Given the description of an element on the screen output the (x, y) to click on. 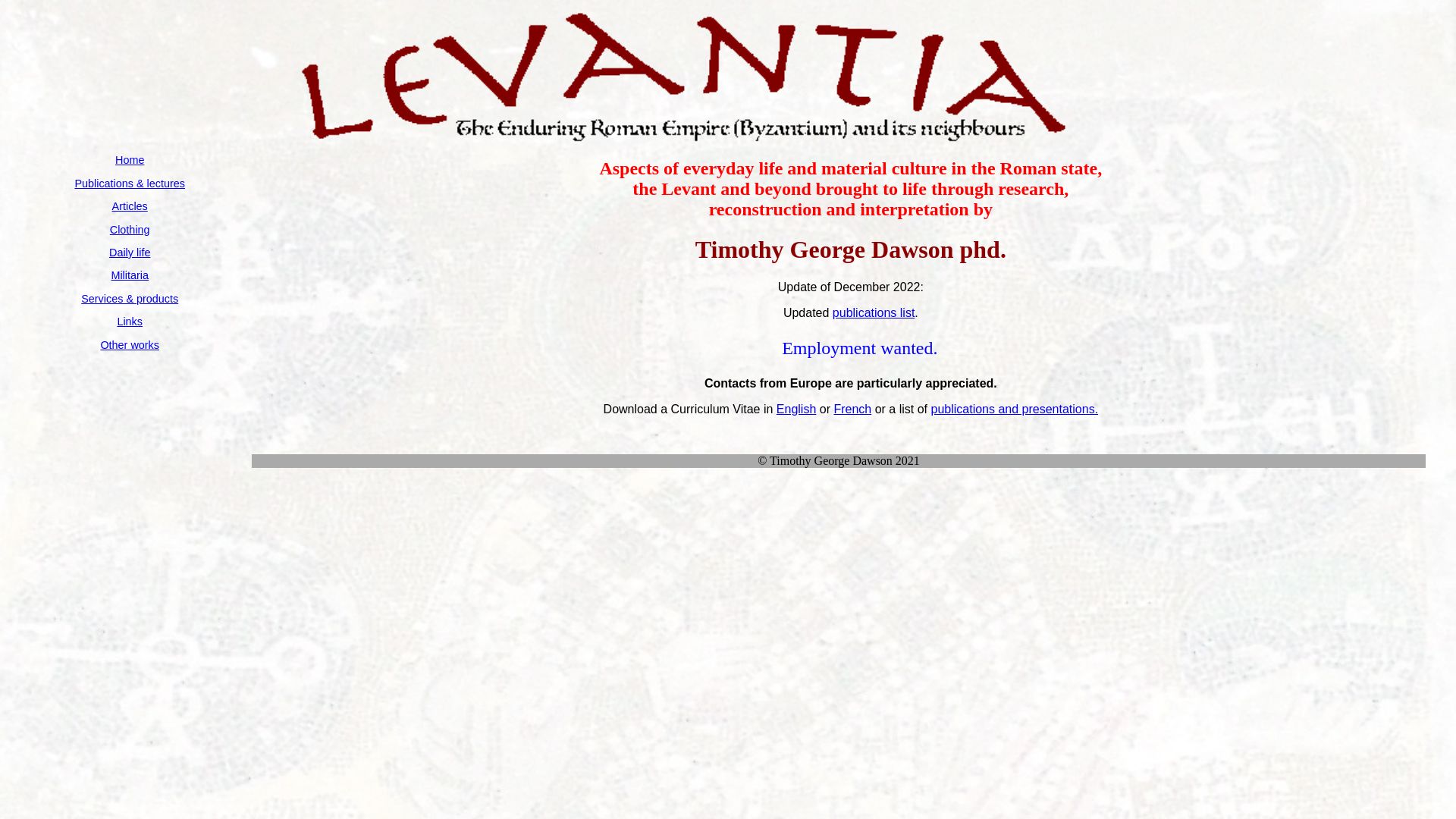
Militaria Element type: text (129, 275)
Articles Element type: text (129, 206)
Other works Element type: text (129, 344)
publications list Element type: text (873, 312)
French Element type: text (852, 408)
Services & products Element type: text (129, 298)
Publications & lectures Element type: text (129, 183)
Daily life Element type: text (129, 252)
Home Element type: text (129, 159)
Clothing Element type: text (129, 229)
Links Element type: text (129, 321)
publications and presentations. Element type: text (1014, 408)
English Element type: text (795, 408)
